Given the description of an element on the screen output the (x, y) to click on. 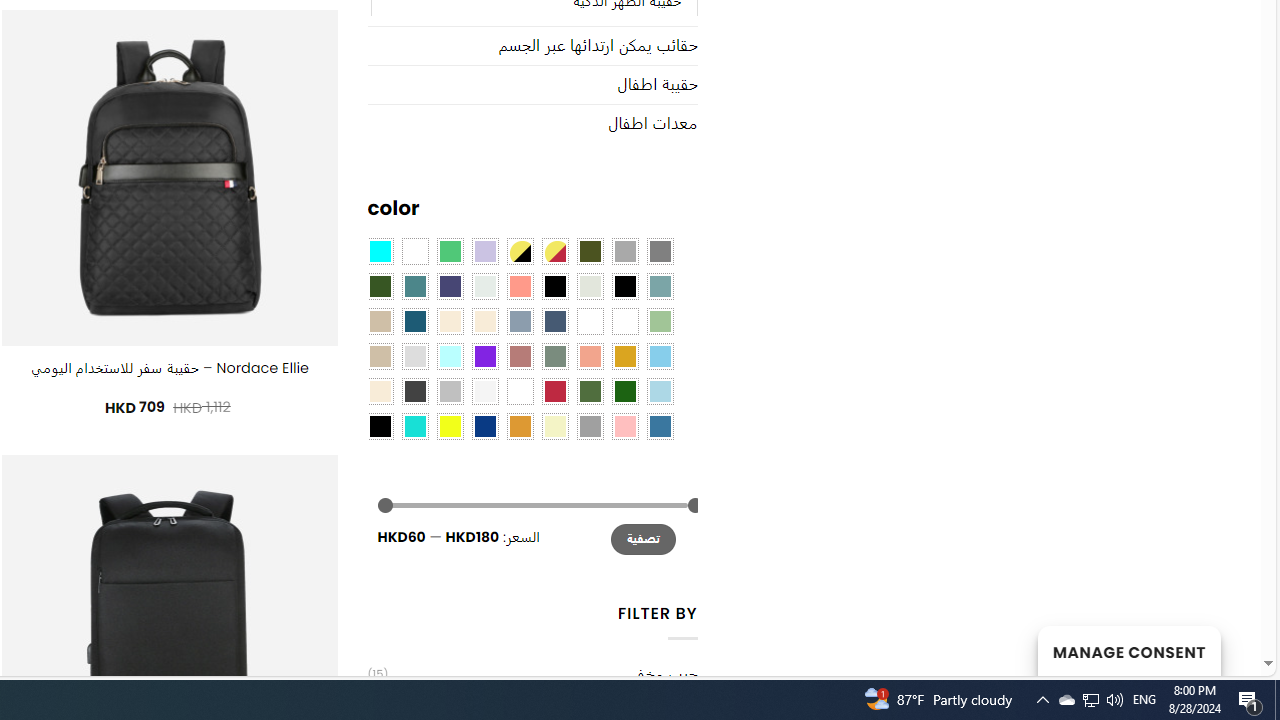
Blue Sage (659, 285)
Sage (554, 355)
